Given the description of an element on the screen output the (x, y) to click on. 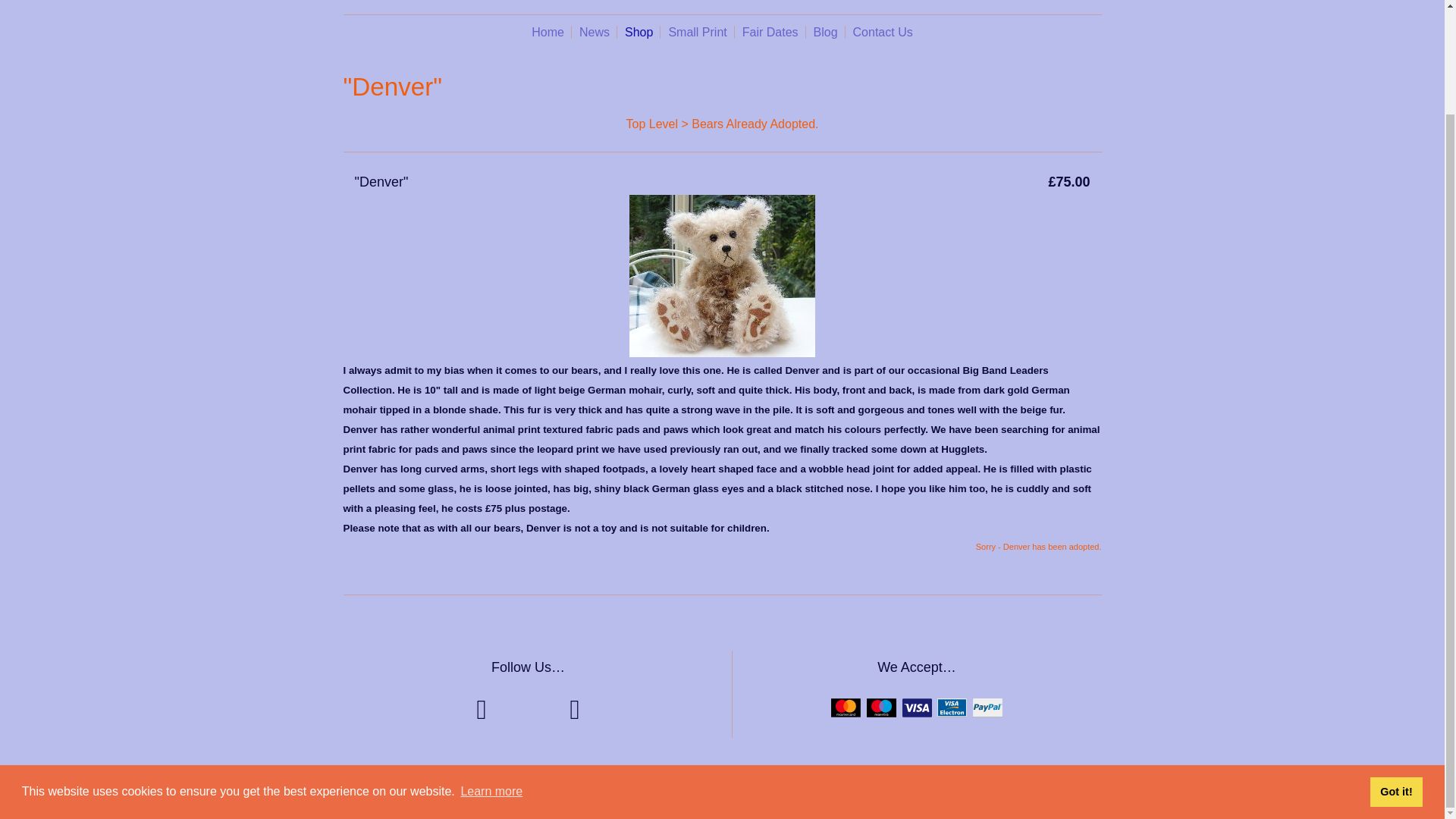
Learn more (491, 669)
Small Print (697, 32)
Bears Already Adopted. (754, 123)
Top Level (652, 123)
Got it! (1396, 669)
Contact Us (882, 32)
Home (548, 32)
News (594, 32)
Shop (639, 32)
Create (751, 789)
Blog (825, 32)
Fair Dates (770, 32)
